Given the description of an element on the screen output the (x, y) to click on. 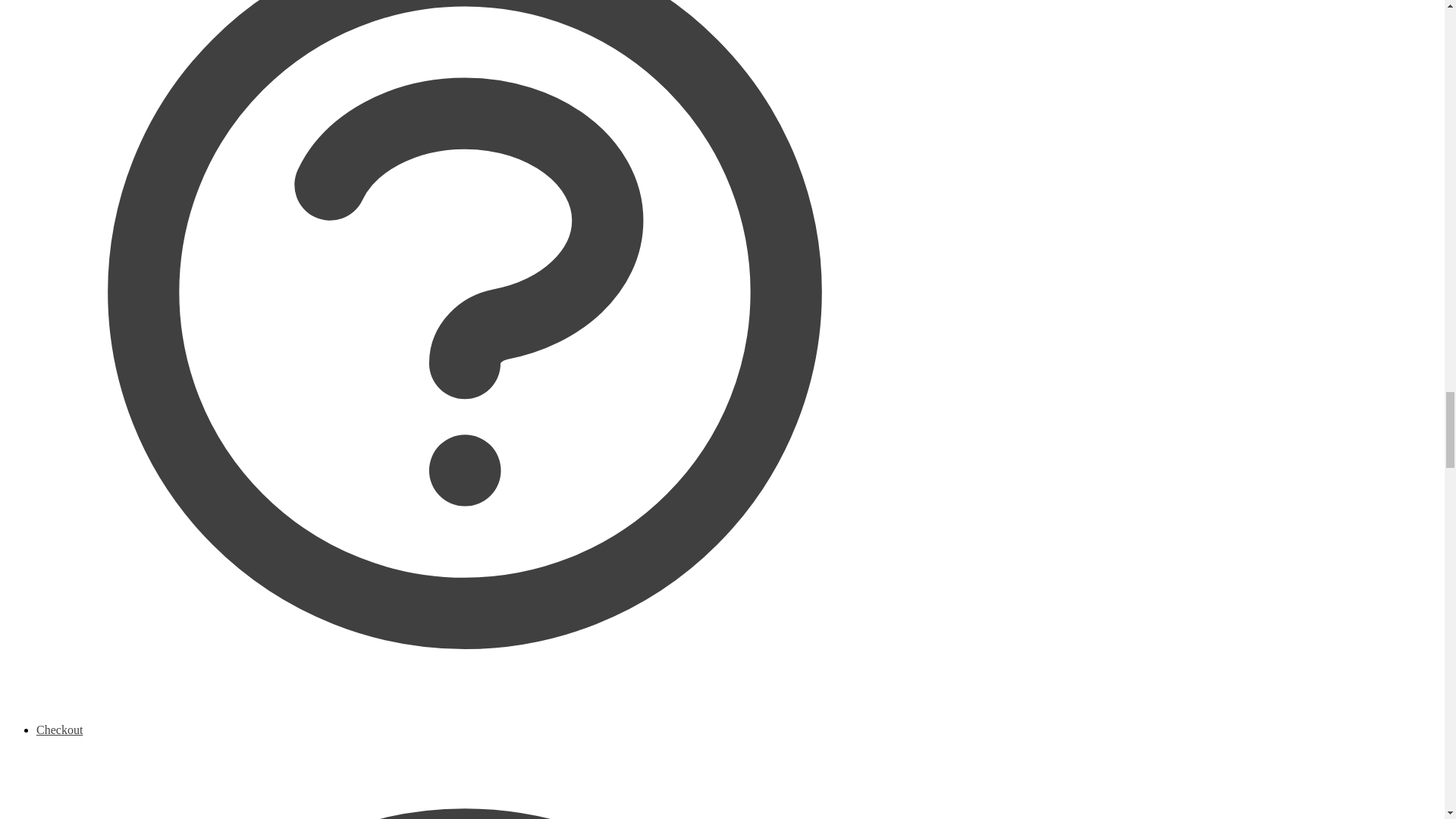
Checkout (464, 771)
